Given the description of an element on the screen output the (x, y) to click on. 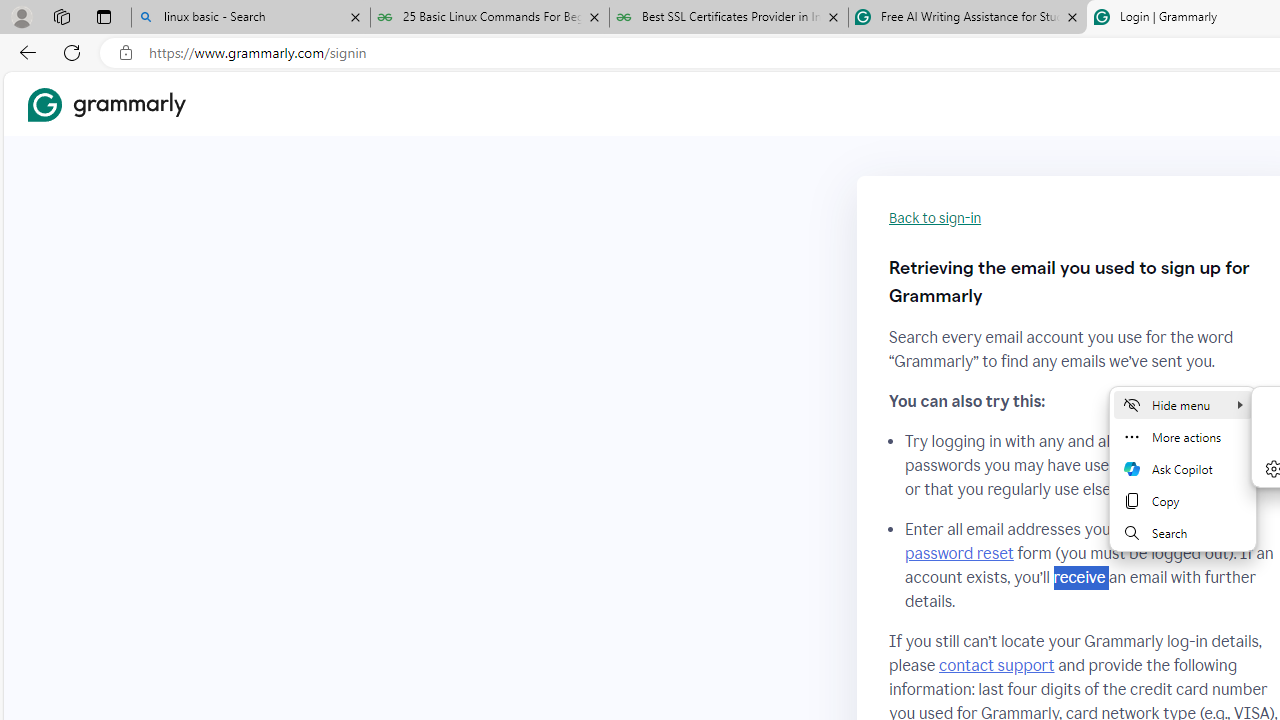
Mini menu on text selection (1182, 468)
contact support (996, 665)
Back to sign-in (935, 218)
linux basic - Search (250, 17)
